Given the description of an element on the screen output the (x, y) to click on. 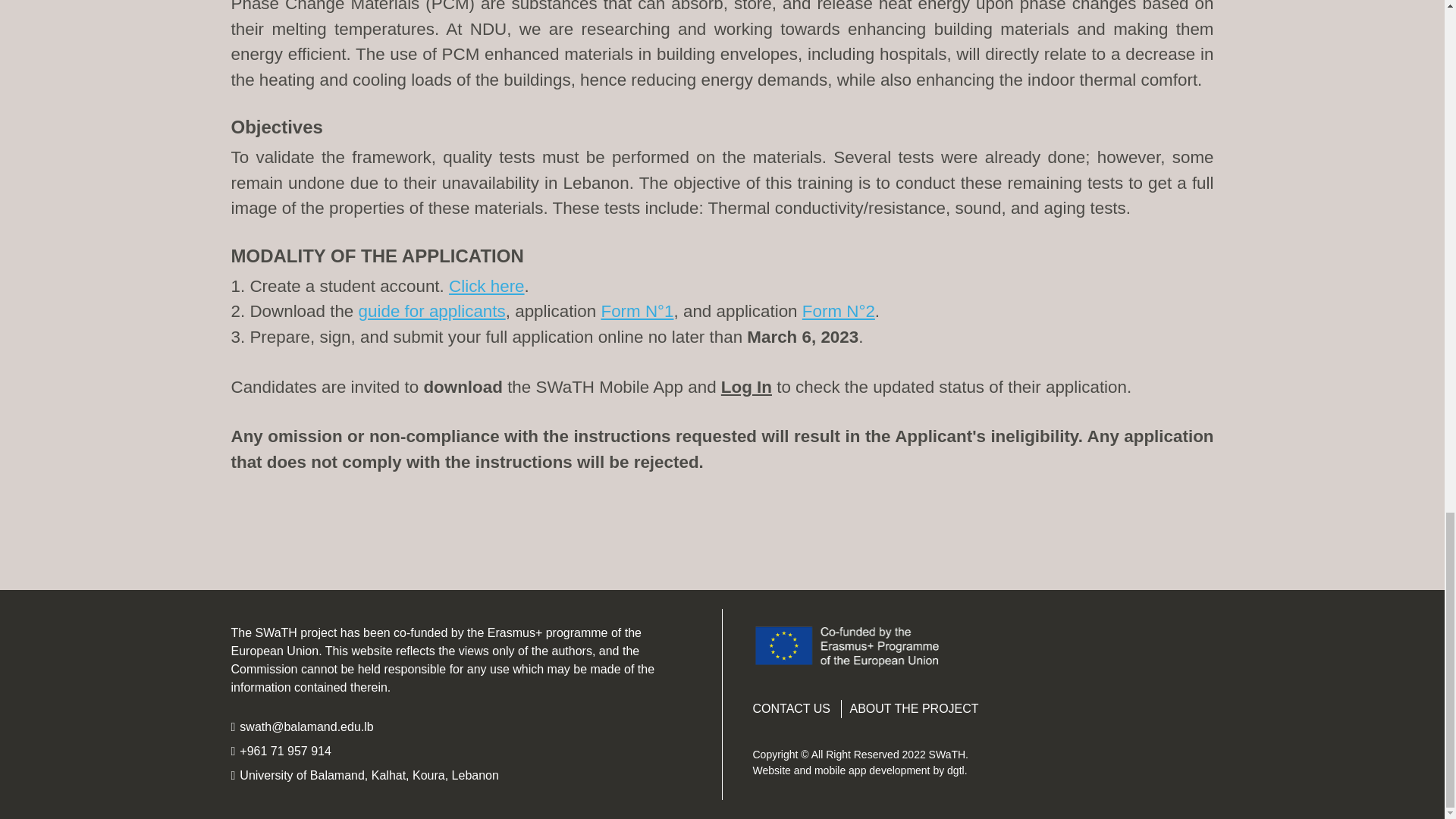
CONTACT US (790, 707)
guide for applicants (431, 311)
Click here (486, 285)
Website and mobile app development by dgtl. (859, 770)
ABOUT THE PROJECT (913, 707)
